Given the description of an element on the screen output the (x, y) to click on. 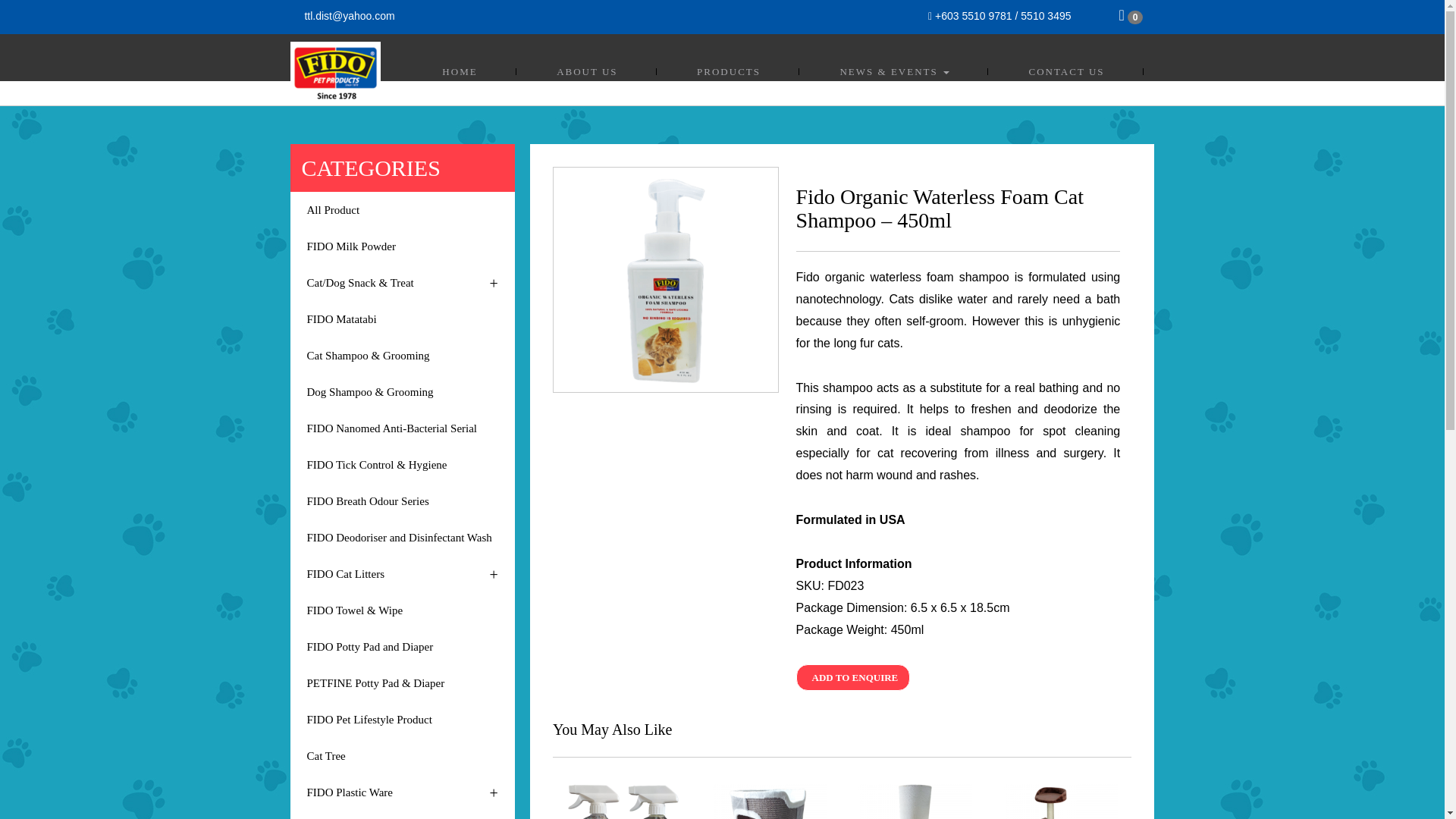
Read more Cat Tree Scratcher - QQ80692 (914, 800)
Cat Tree (401, 755)
FIDO Pet Lifestyle Product (401, 719)
ABOUT US (587, 71)
About Us (587, 71)
Products (728, 71)
FIDO Potty Pad and Diaper (401, 646)
0 (1130, 16)
CONTACT US (1066, 71)
FIDO Milk Powder (401, 246)
Read more Cat Tree - QQ80692-2 (1060, 800)
FIDO Matatabi (401, 319)
All Product (401, 209)
HOME (459, 71)
FIDO Deodoriser and Disinfectant Wash (401, 537)
